Given the description of an element on the screen output the (x, y) to click on. 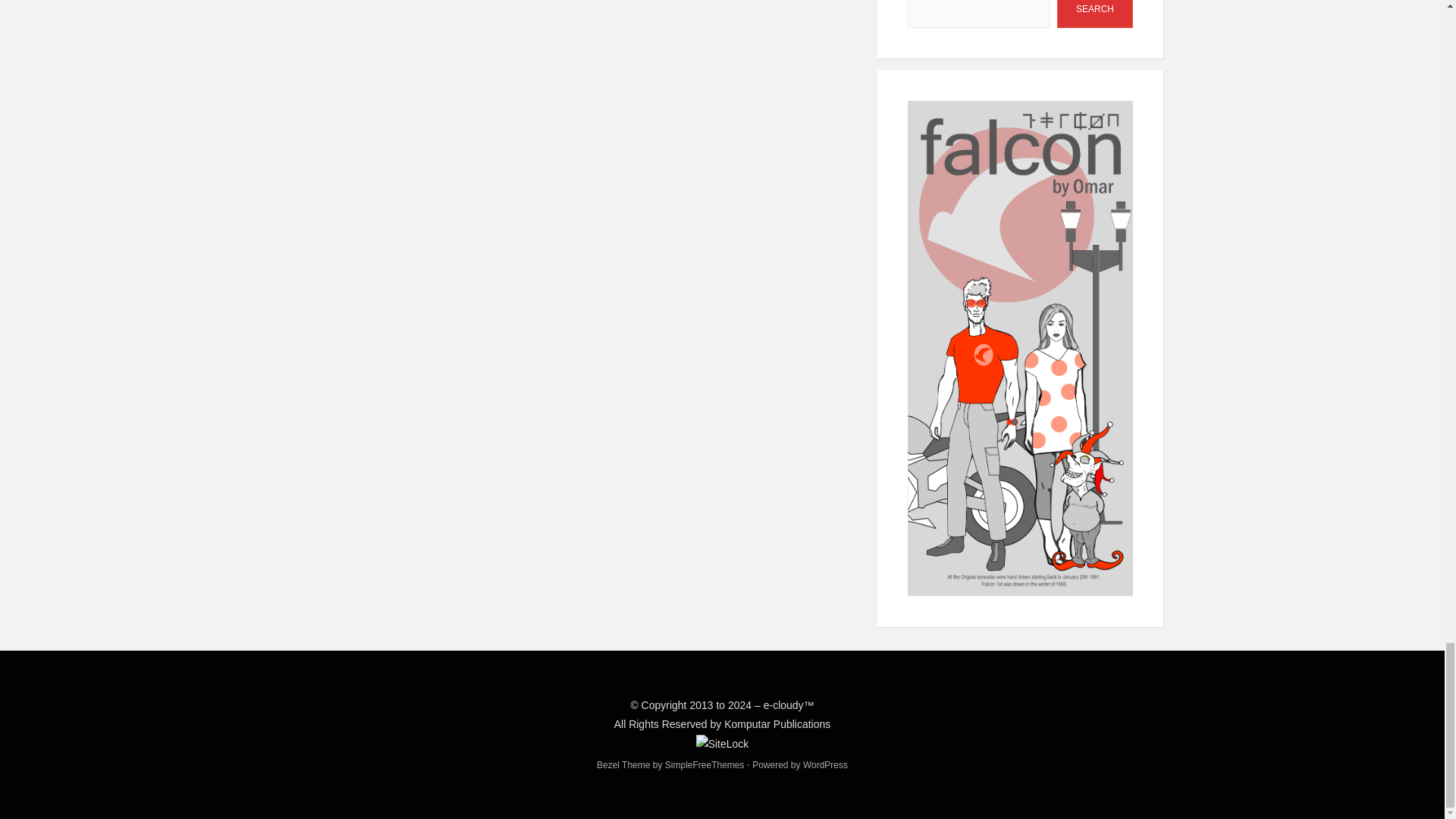
SiteLock (722, 743)
SimpleFreeThemes (704, 765)
WordPress (825, 765)
